Given the description of an element on the screen output the (x, y) to click on. 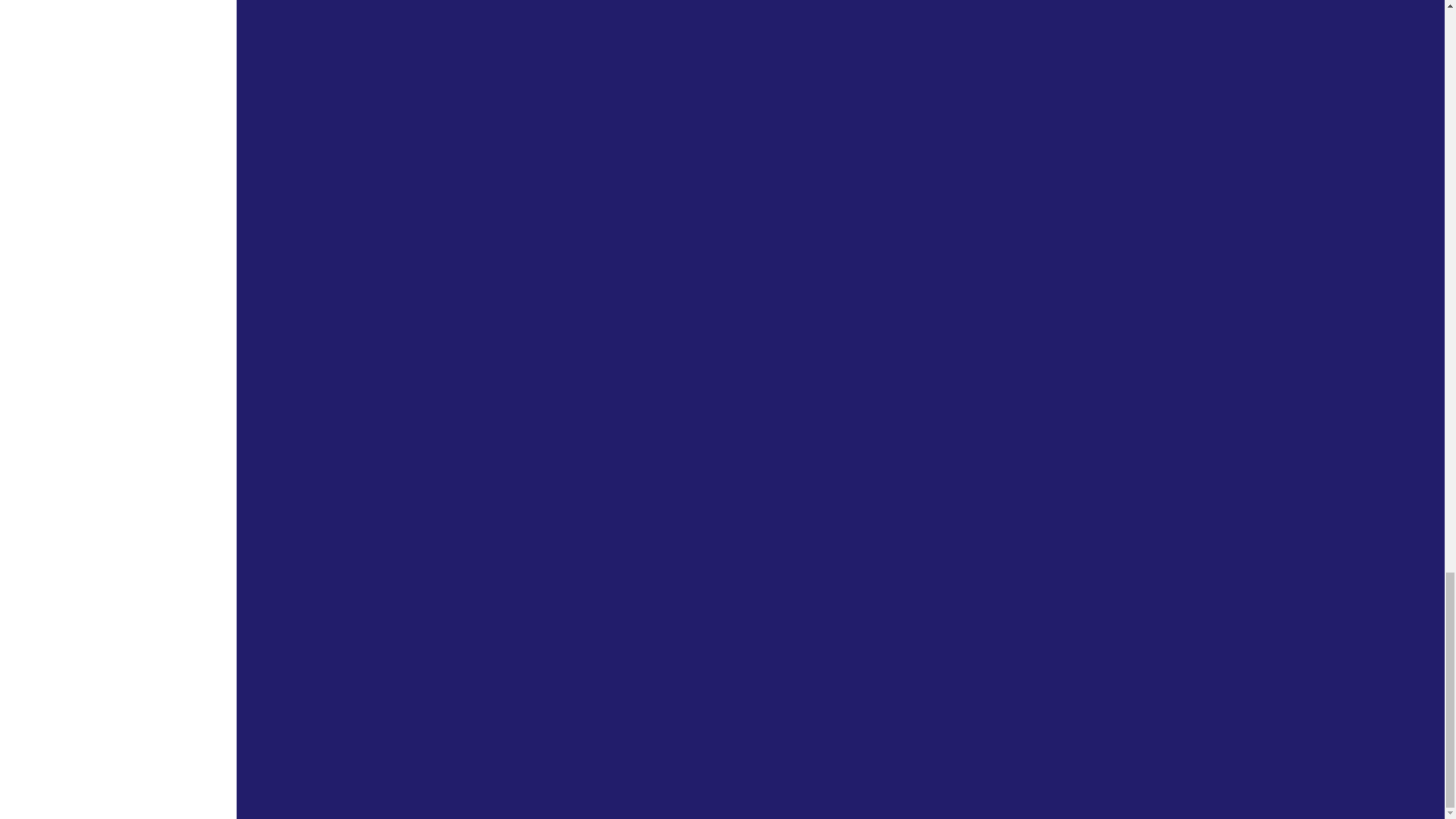
Page 49 of 54 (726, 730)
Next Page (961, 730)
January 25, 2008 (664, 74)
Previous Page (607, 730)
Page 48 of 54 (686, 730)
Last Page (999, 730)
Page 50 of 54 (784, 730)
Page 47 of 54 (646, 730)
Lansing Update (589, 275)
First Page (570, 730)
Page 51 of 54 (842, 730)
Lansing Update (589, 41)
Page 53 of 54 (922, 730)
December 7, 2007 (667, 307)
Page 52 of 54 (882, 730)
